Given the description of an element on the screen output the (x, y) to click on. 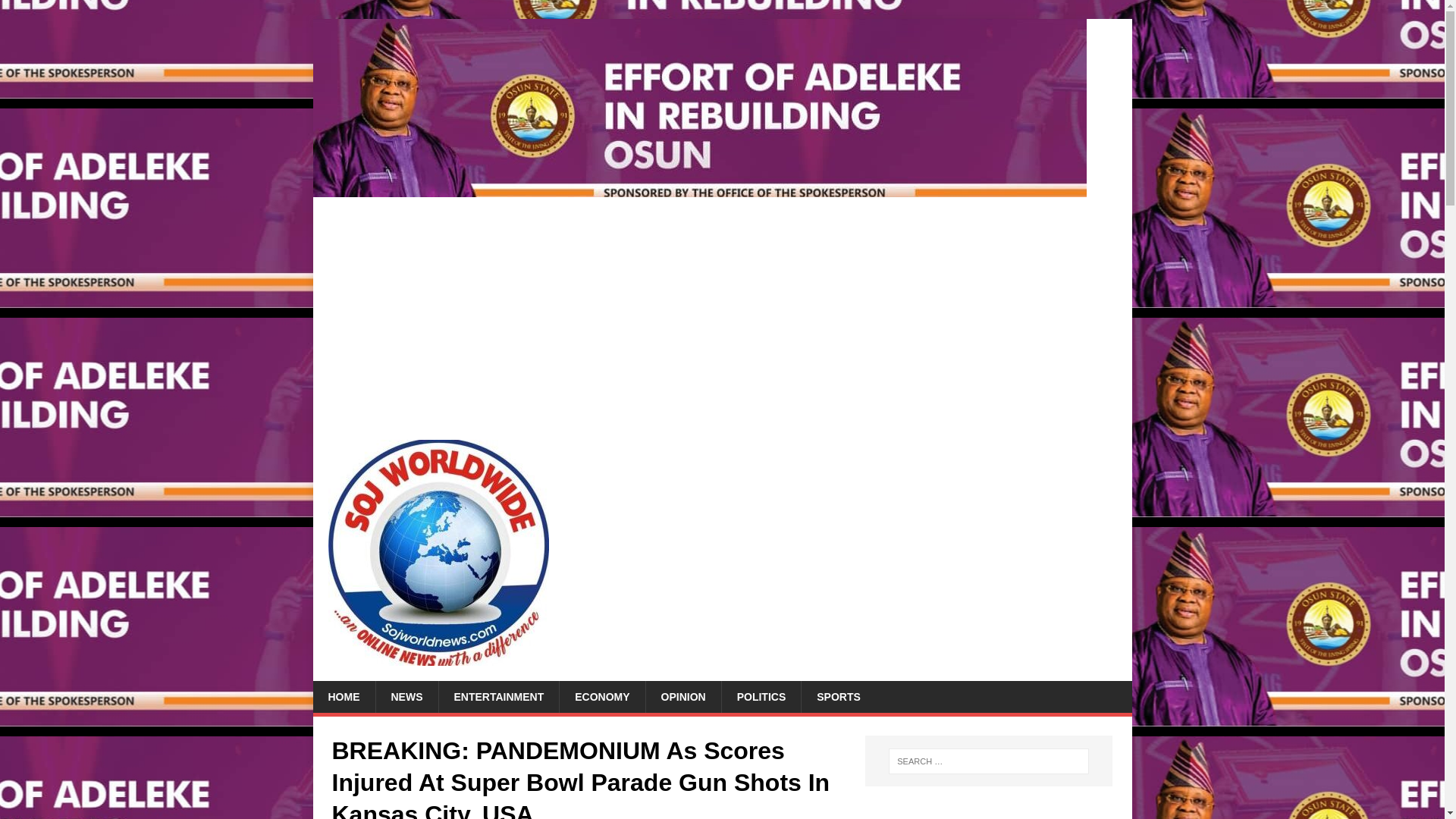
POLITICS (761, 696)
OPINION (682, 696)
NEWS (406, 696)
ECONOMY (602, 696)
an ONLINE NEWS with a difference  (699, 188)
SPORTS (838, 696)
HOME (343, 696)
ENTERTAINMENT (498, 696)
